Given the description of an element on the screen output the (x, y) to click on. 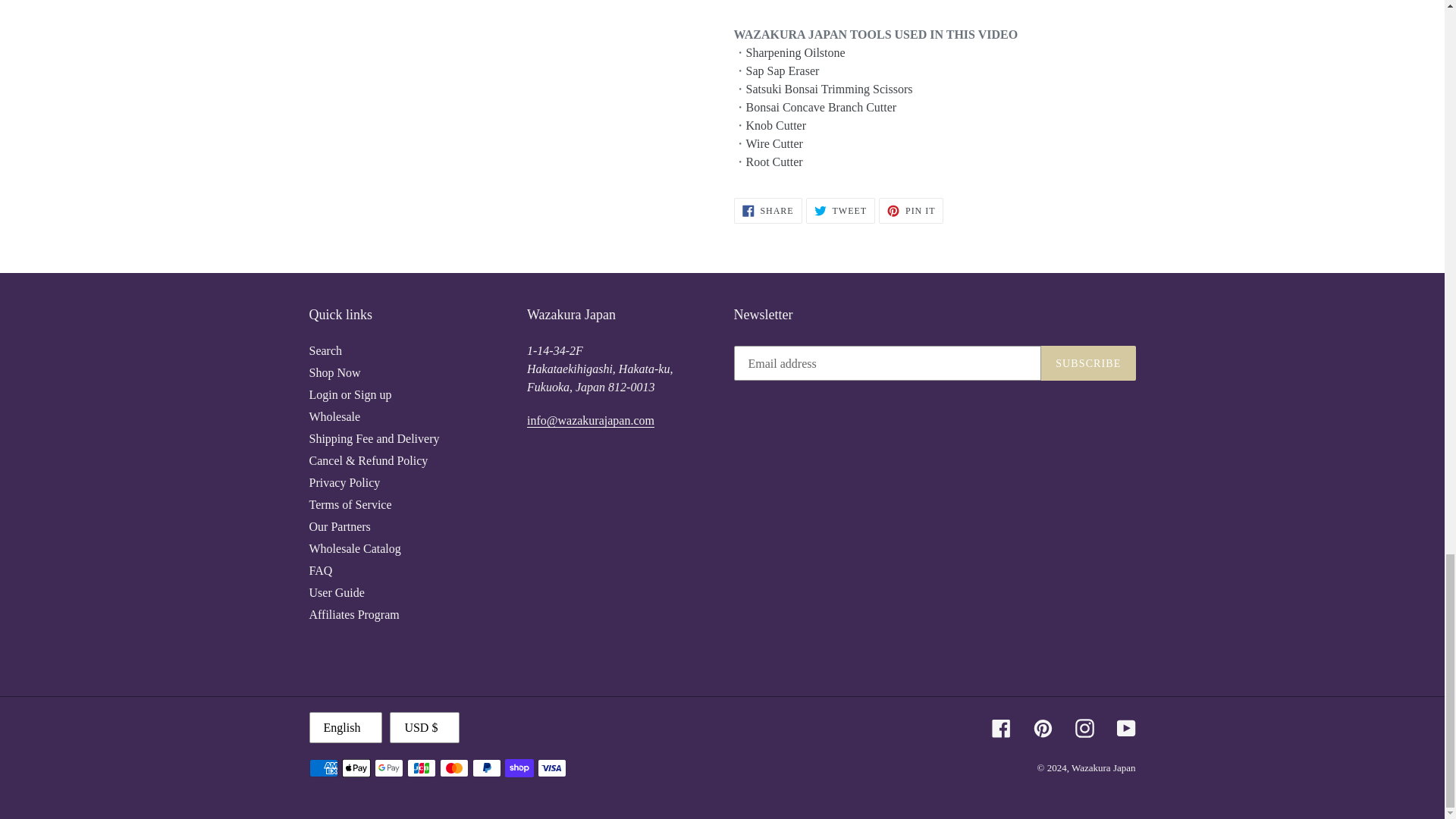
wire cutters (774, 143)
concave cutter (820, 107)
sap eraser link (782, 70)
satsuki bonsai scissors (828, 89)
knob cutter (775, 125)
oilstone (795, 52)
